Given the description of an element on the screen output the (x, y) to click on. 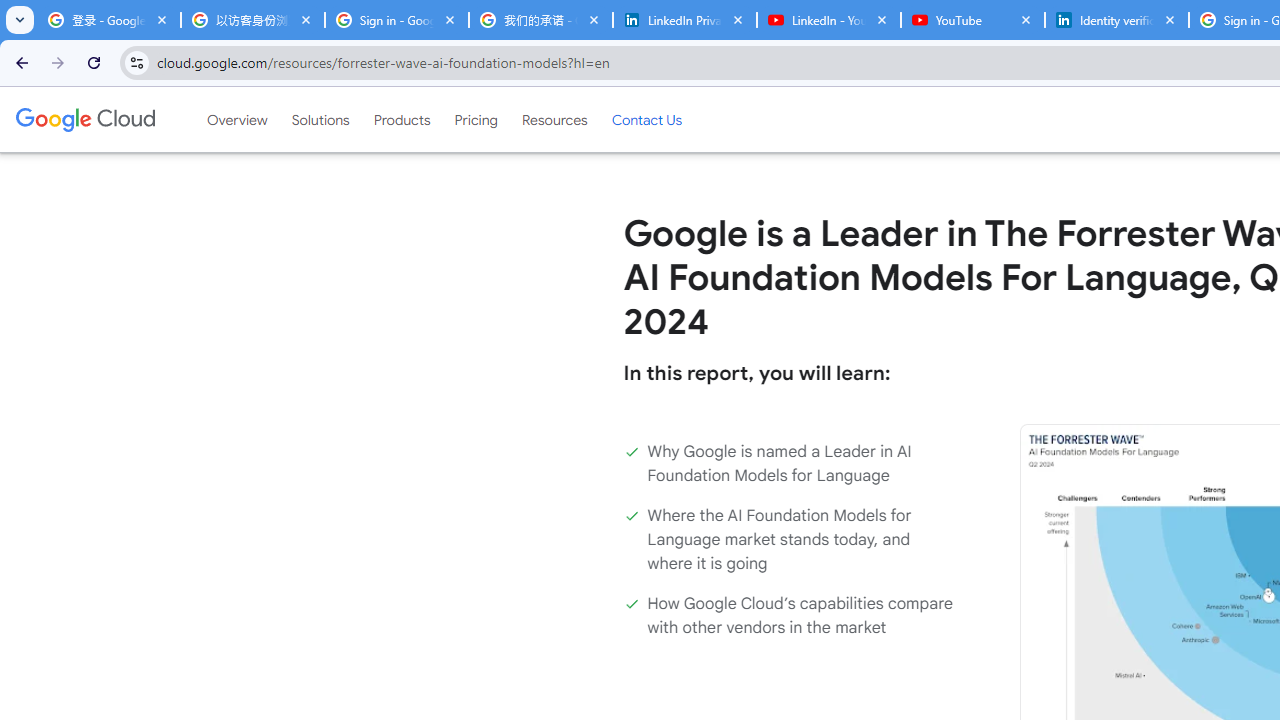
LinkedIn Privacy Policy (684, 20)
YouTube (972, 20)
LinkedIn - YouTube (828, 20)
Pricing (476, 119)
